Given the description of an element on the screen output the (x, y) to click on. 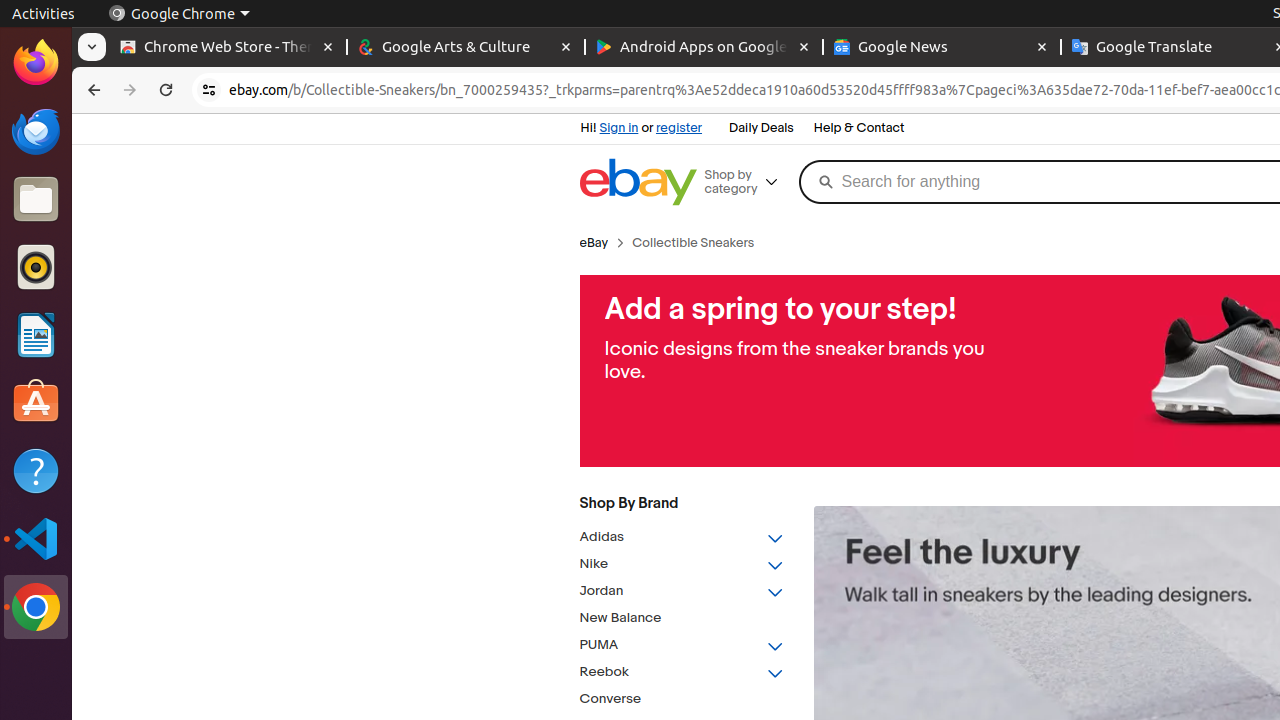
Firefox Web Browser Element type: push-button (36, 63)
Help Element type: push-button (36, 470)
PUMA Element type: push-button (682, 645)
eBay Element type: link (594, 243)
